Given the description of an element on the screen output the (x, y) to click on. 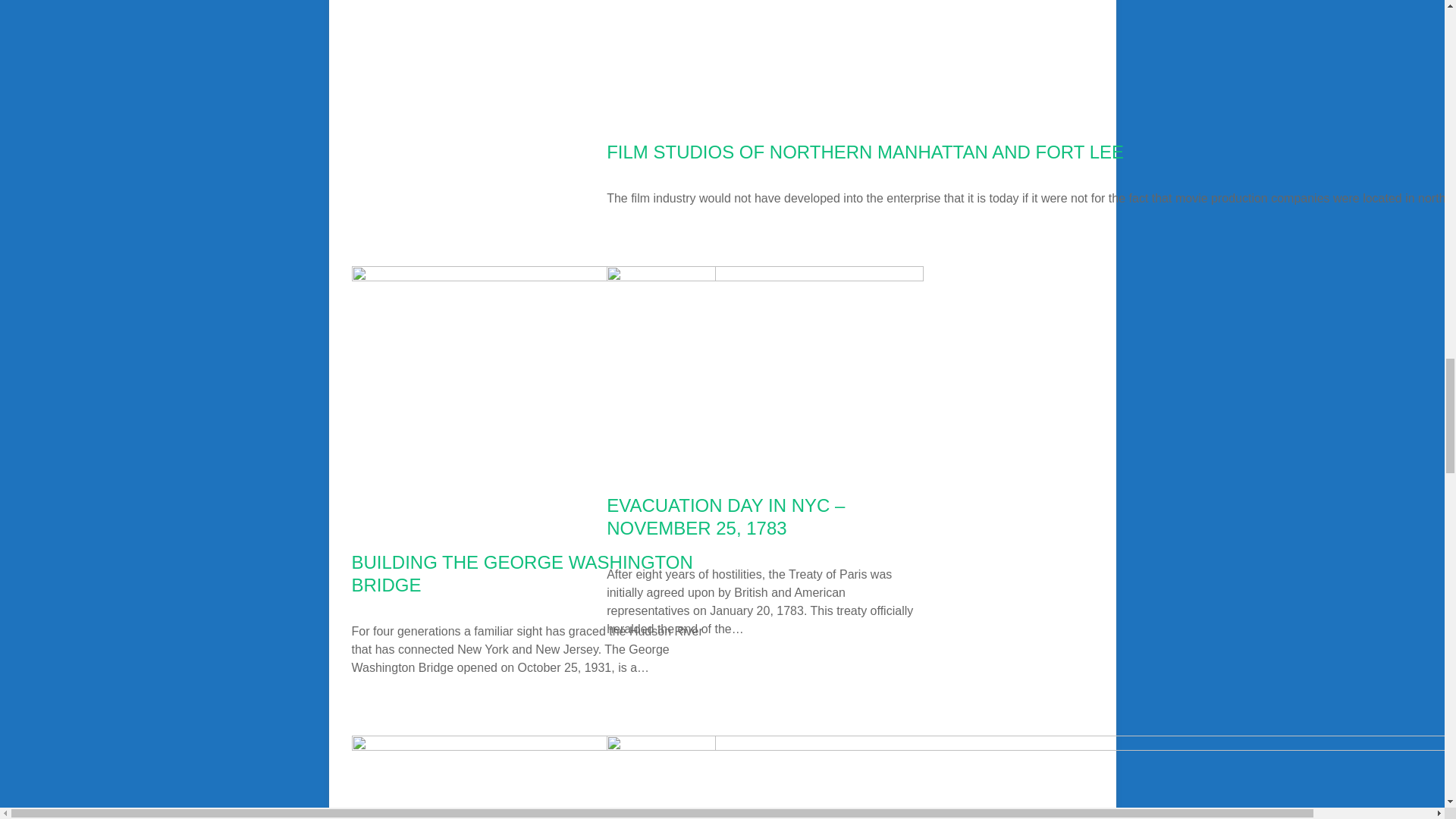
BUILDING THE GEORGE WASHINGTON BRIDGE (522, 573)
FILM STUDIOS OF NORTHERN MANHATTAN AND FORT LEE (865, 151)
Building the George Washington Bridge (534, 530)
